Given the description of an element on the screen output the (x, y) to click on. 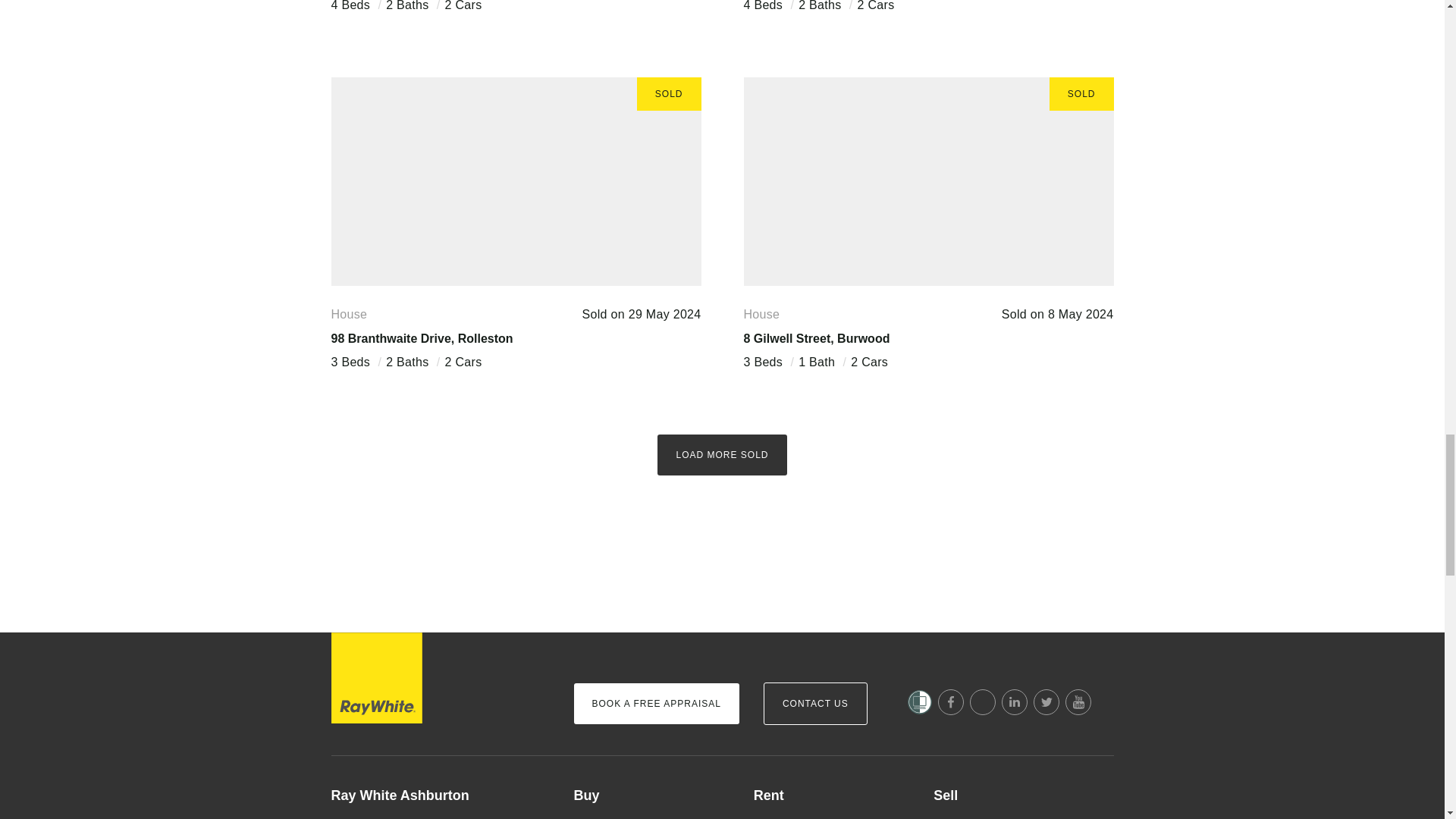
SOLD (515, 180)
LOAD MORE SOLD (722, 454)
CONTACT US (814, 703)
Ray White (376, 677)
Facebook (950, 701)
98 Branthwaite Drive, Rolleston (421, 338)
BOOK A FREE APPRAISAL (655, 703)
8 Gilwell Street, Burwood (815, 338)
SOLD (927, 180)
